Given the description of an element on the screen output the (x, y) to click on. 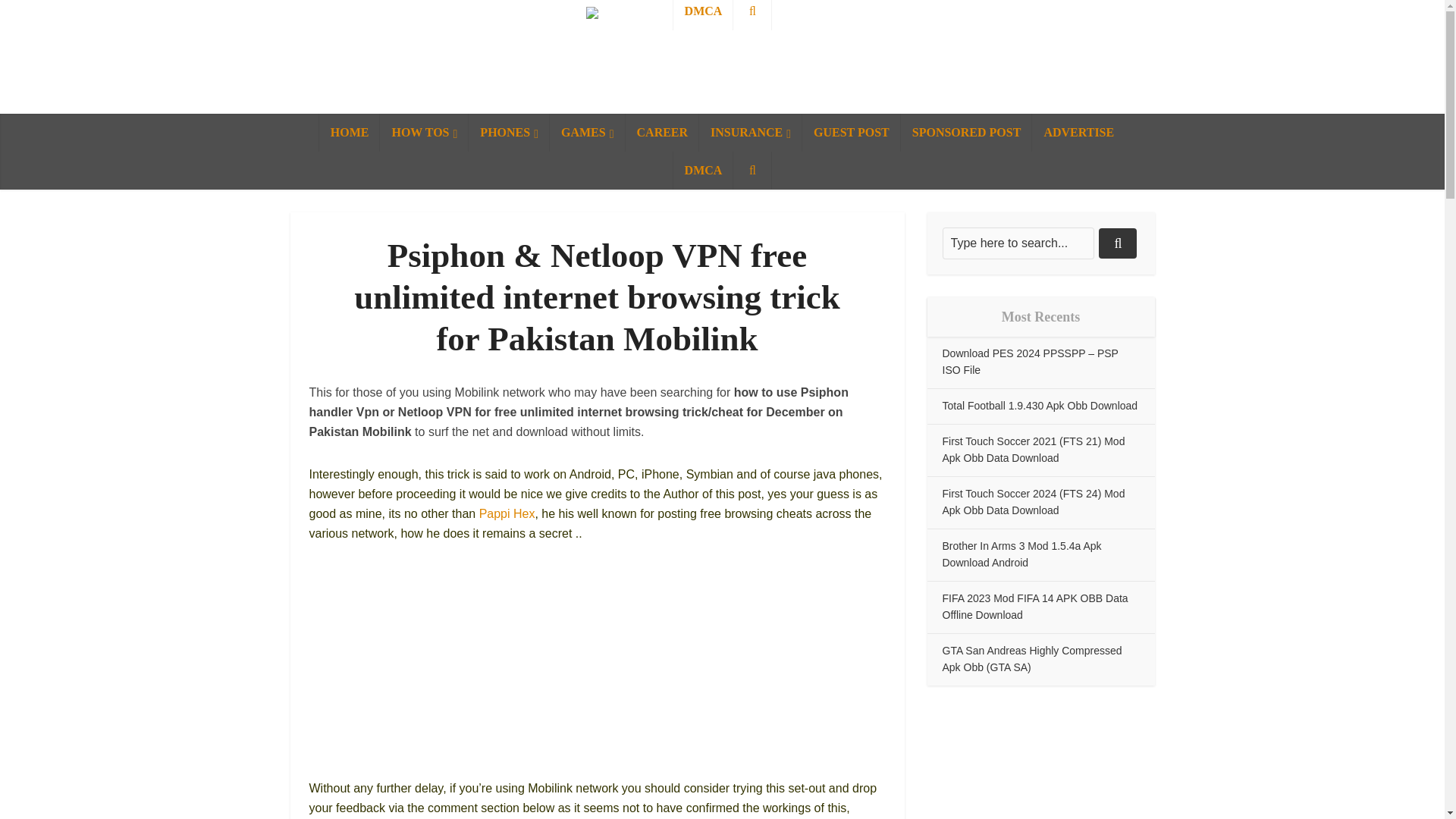
GAMES (588, 132)
ADVERTISE (1078, 132)
INSURANCE (750, 132)
CAREER (663, 132)
DMCA (702, 170)
Type here to search... (1017, 243)
PHONES (509, 132)
SPONSORED POST (966, 132)
HOW TOS (424, 132)
HOME (349, 132)
